Given the description of an element on the screen output the (x, y) to click on. 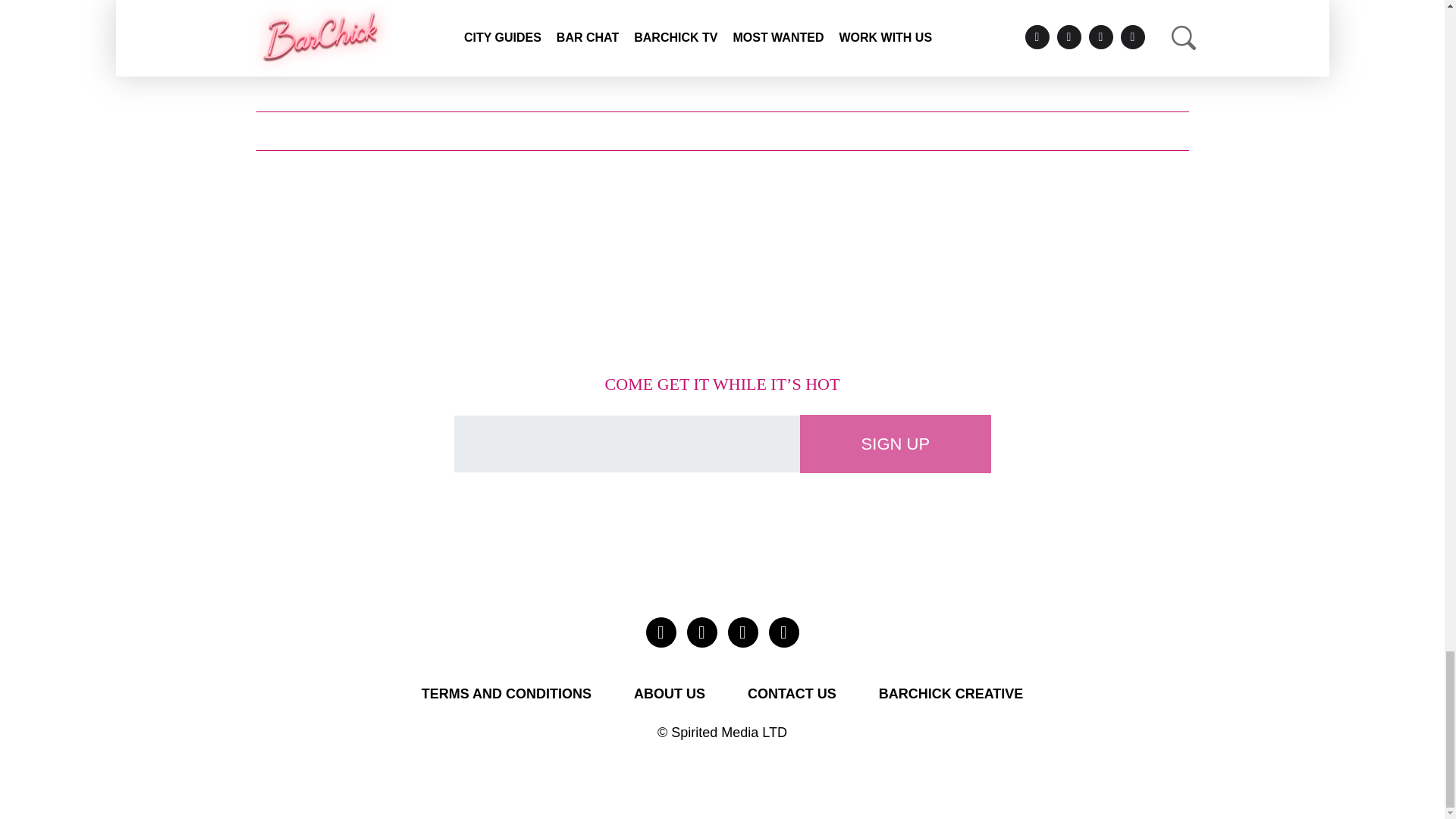
CONTACT US (791, 694)
TERMS AND CONDITIONS (506, 694)
ABOUT US (669, 694)
BARCHICK CREATIVE (950, 694)
CONTACT US (791, 694)
BARCHICK CREATIVE (950, 694)
ABOUT US (669, 694)
TERMS AND CONDITIONS (506, 694)
Spirited Media LTD (729, 732)
SIGN UP (895, 443)
